Given the description of an element on the screen output the (x, y) to click on. 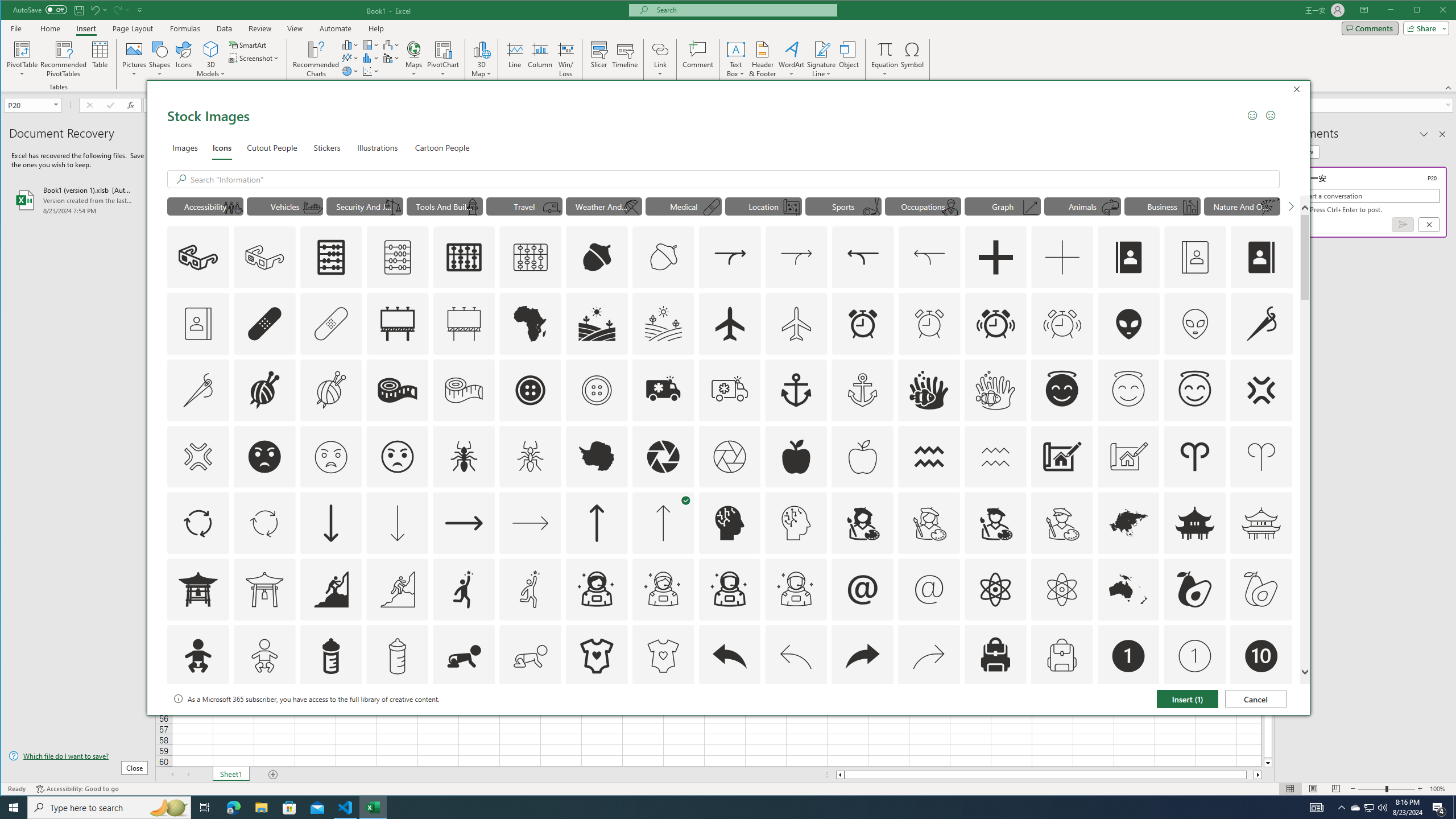
Excel - 1 running window (373, 807)
Running applications (717, 807)
AutomationID: Icons_Badge7 (928, 721)
Insert Statistic Chart (371, 57)
AutomationID: Icons_Badge2_M (330, 721)
AutomationID: Icons_AlienFace_M (1194, 323)
